Given the description of an element on the screen output the (x, y) to click on. 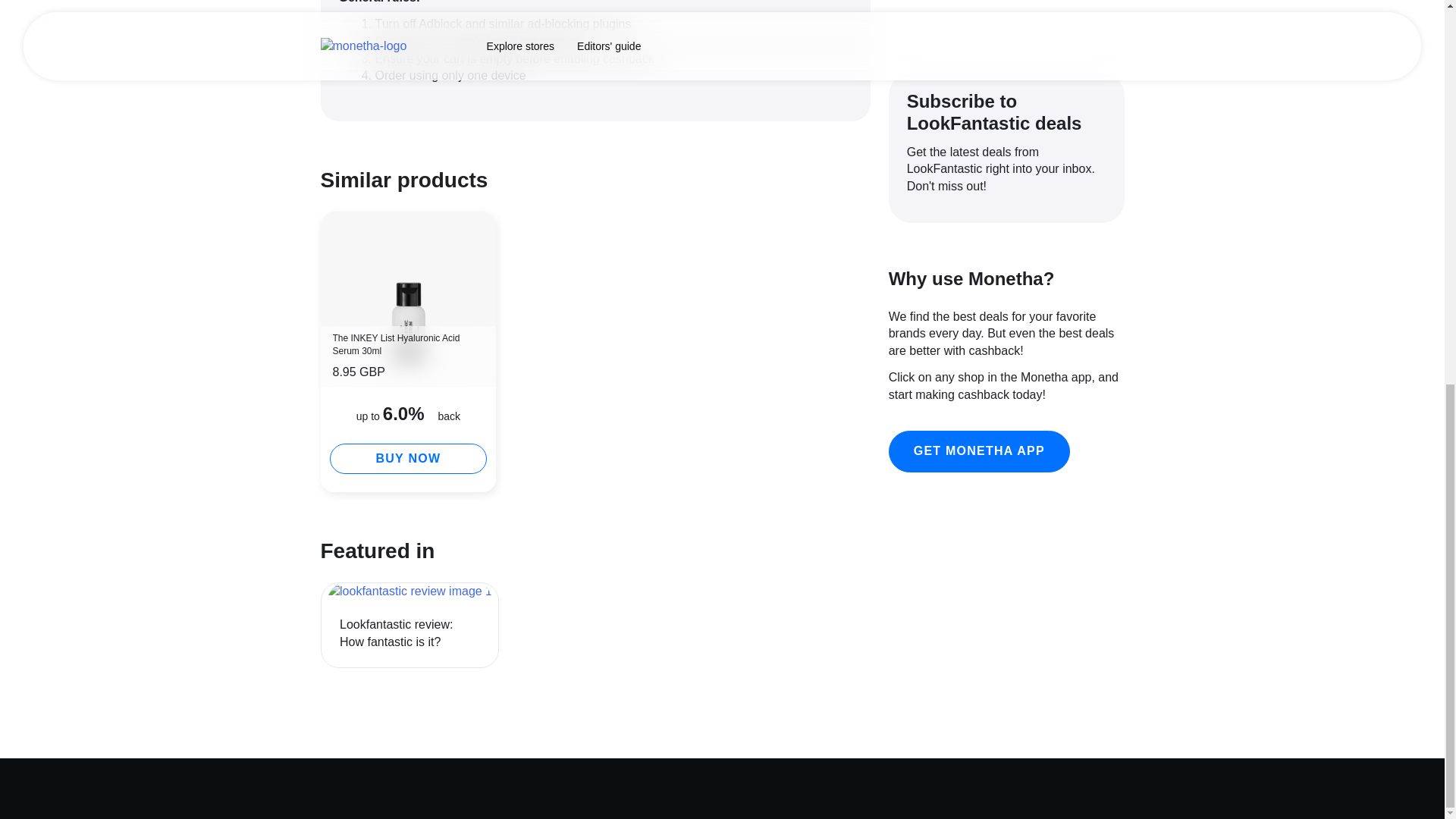
BUY NOW (407, 458)
GET MONETHA APP (408, 299)
lookfantastic-review-image-1 (979, 451)
Lookfantastic review: How fantastic is it? (409, 591)
